Given the description of an element on the screen output the (x, y) to click on. 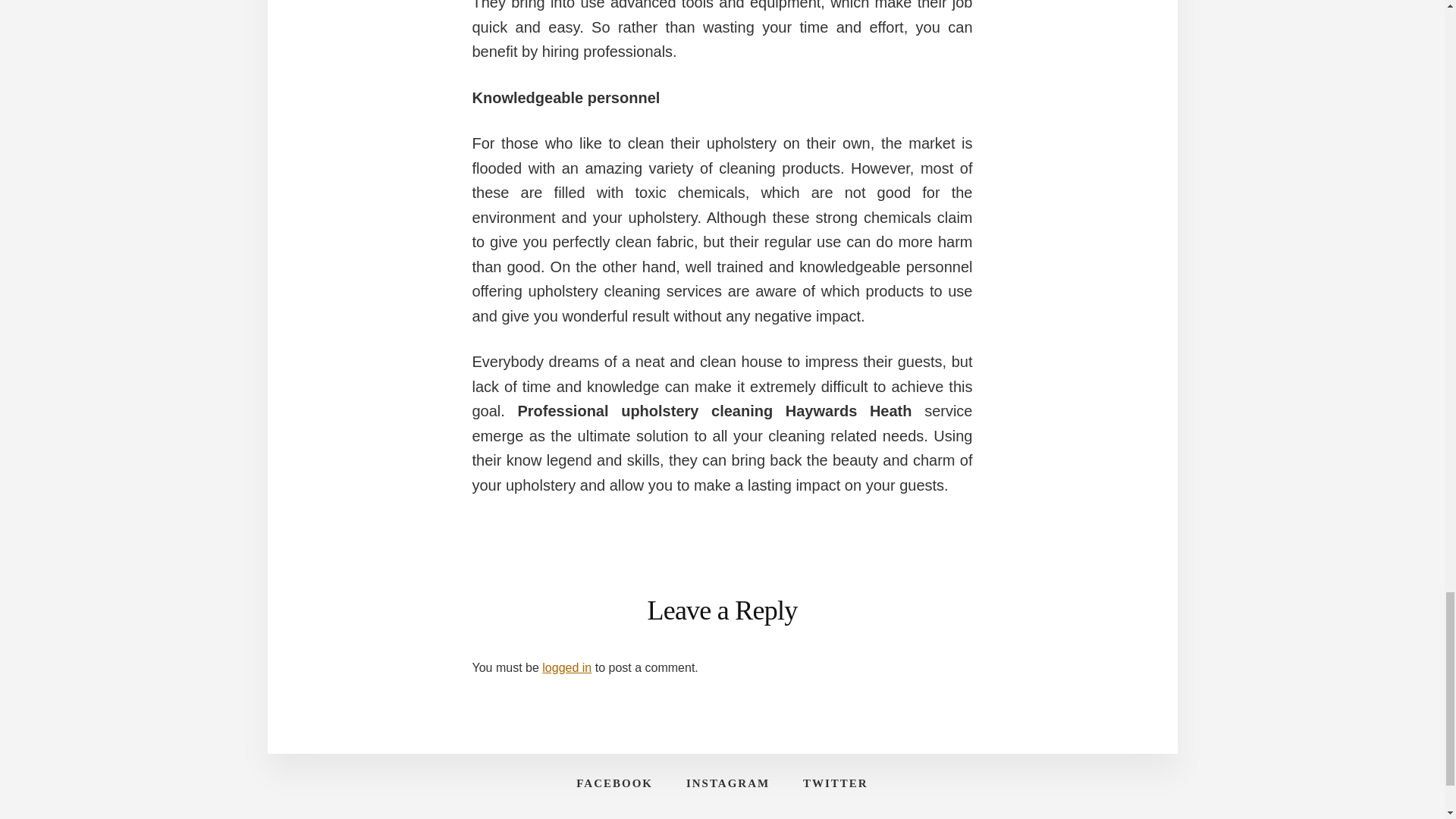
logged in (566, 667)
INSTAGRAM (727, 783)
TWITTER (835, 783)
FACEBOOK (614, 783)
